Given the description of an element on the screen output the (x, y) to click on. 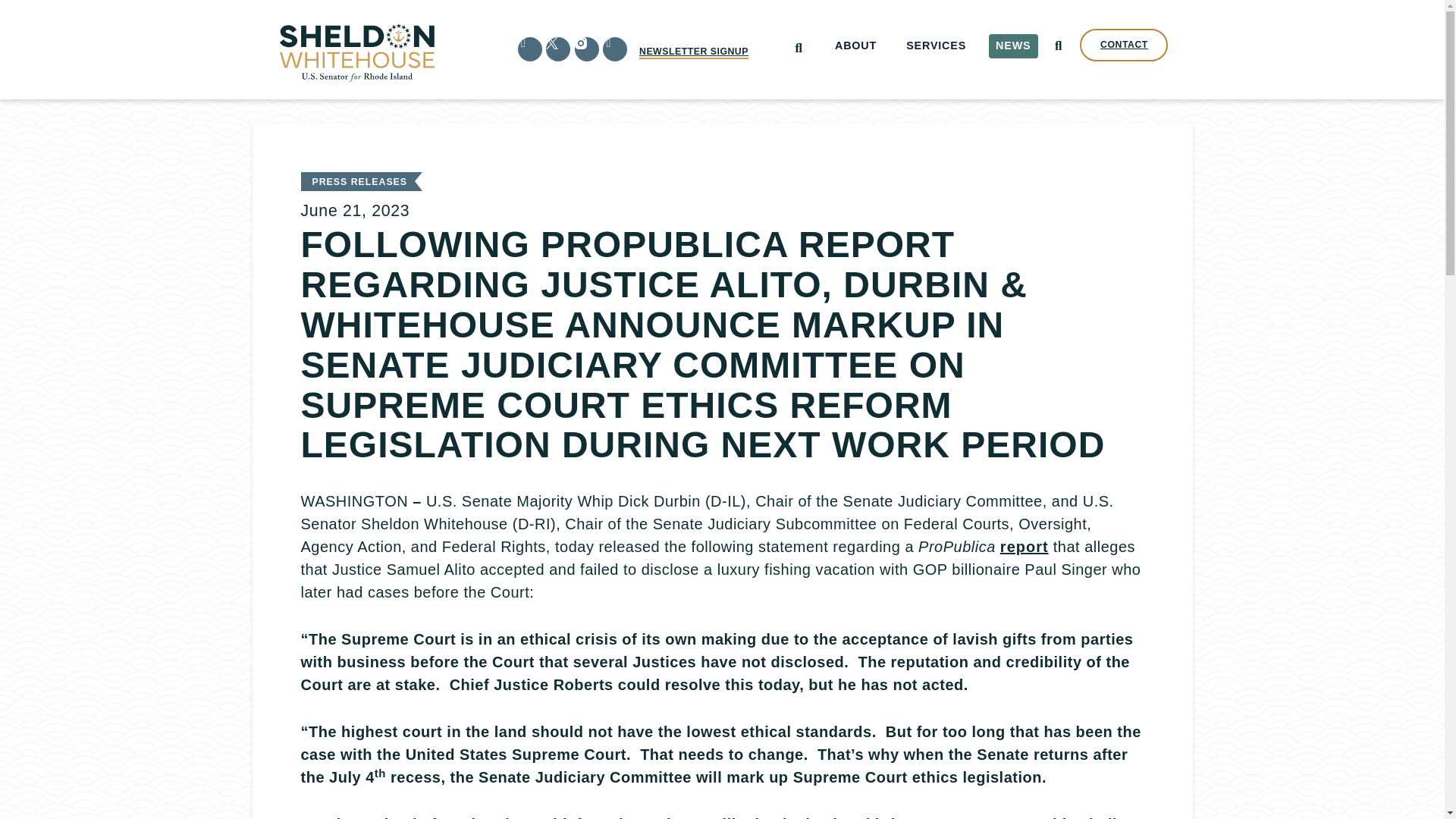
PRESS RELEASES (360, 181)
NEWS (1013, 46)
CONTACT (1123, 44)
SERVICES (936, 46)
NEWSLETTER SIGNUP (693, 51)
ABOUT (855, 46)
report (1024, 546)
